Given the description of an element on the screen output the (x, y) to click on. 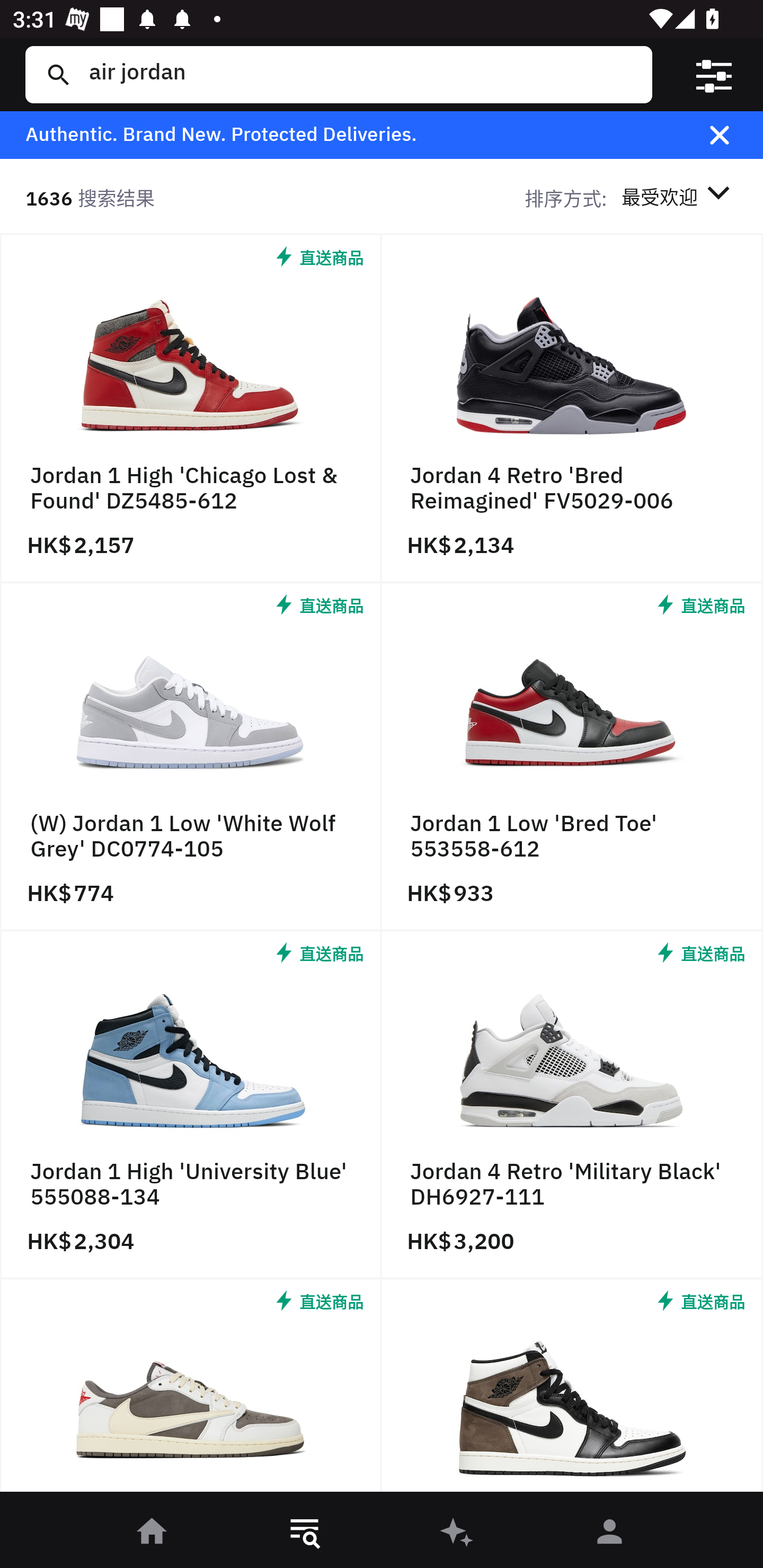
air jordan (358, 74)
 (713, 74)
Authentic. Brand New. Protected Deliveries. (350, 134)
 (732, 134)
最受欢迎  (678, 196)
 直送商品 Jordan 1 Low 'Bred Toe' 553558-612 HK$ 933 (572, 757)
 直送商品 (190, 1389)
 直送商品 (572, 1389)
󰋜 (152, 1532)
󱎸 (305, 1532)
󰫢 (457, 1532)
󰀄 (610, 1532)
